Given the description of an element on the screen output the (x, y) to click on. 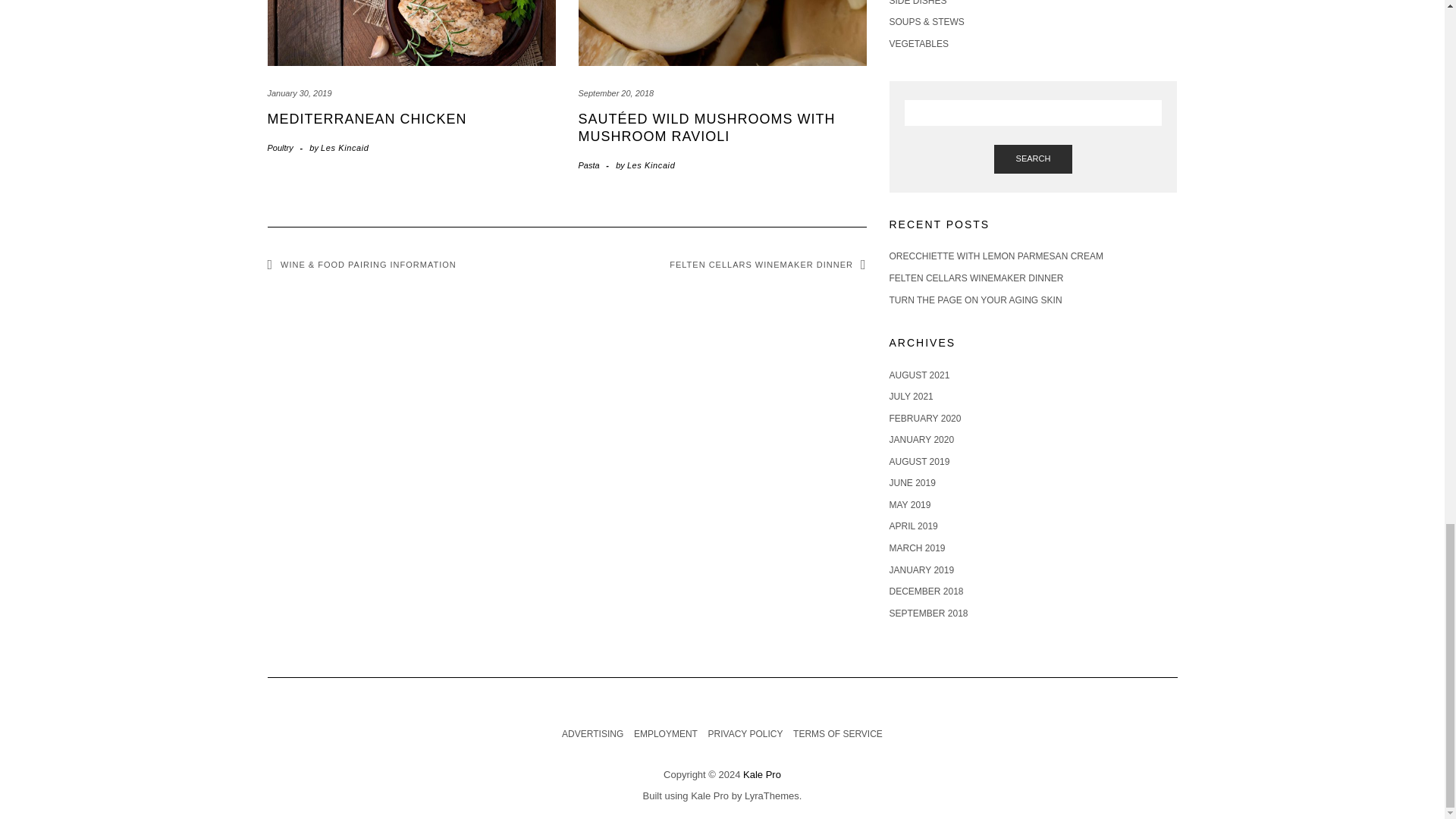
Mediterranean Chicken (365, 118)
